Given the description of an element on the screen output the (x, y) to click on. 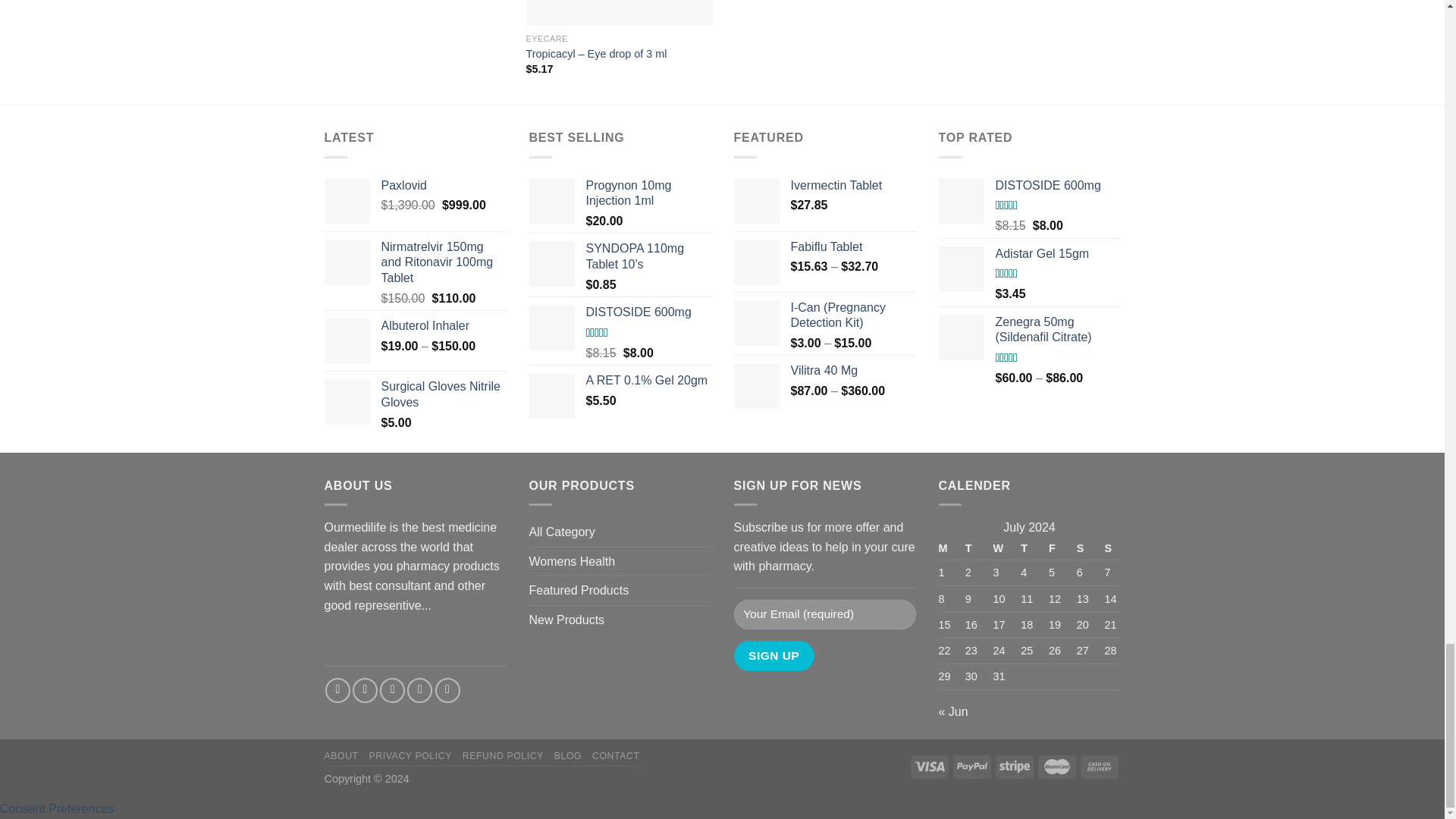
Follow on Facebook (337, 690)
Sign Up (773, 655)
Follow on Instagram (364, 690)
